Given the description of an element on the screen output the (x, y) to click on. 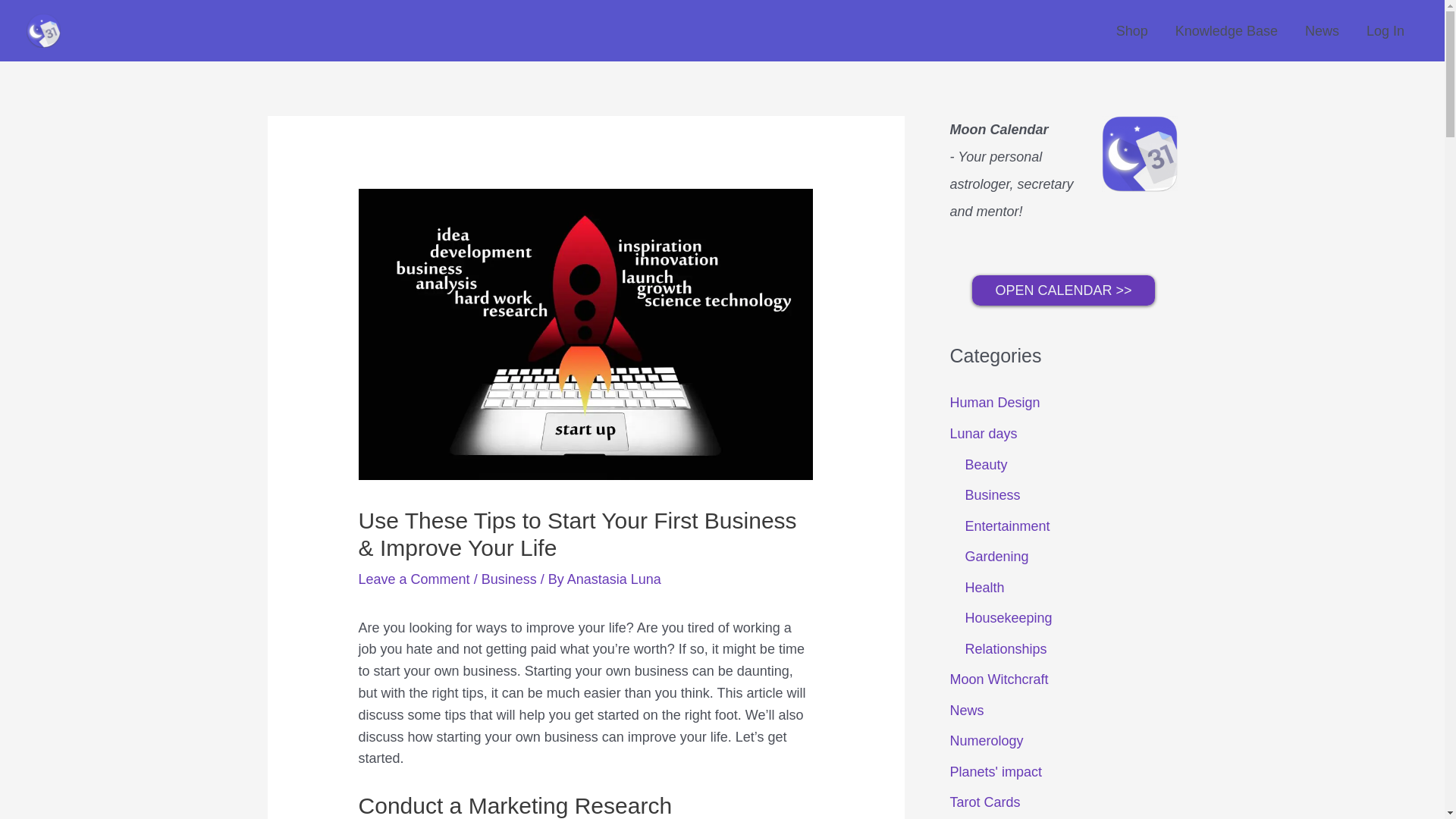
Tarot Cards (984, 801)
Business (509, 579)
News (966, 710)
Log In (1385, 30)
Business (991, 494)
Human Design (994, 402)
Housekeeping (1007, 617)
News (1321, 30)
Anastasia Luna (614, 579)
Health (983, 587)
Moon Witchcraft (998, 679)
View all posts by Anastasia Luna (614, 579)
Shop (1131, 30)
Lunar days (982, 433)
Beauty (985, 464)
